Given the description of an element on the screen output the (x, y) to click on. 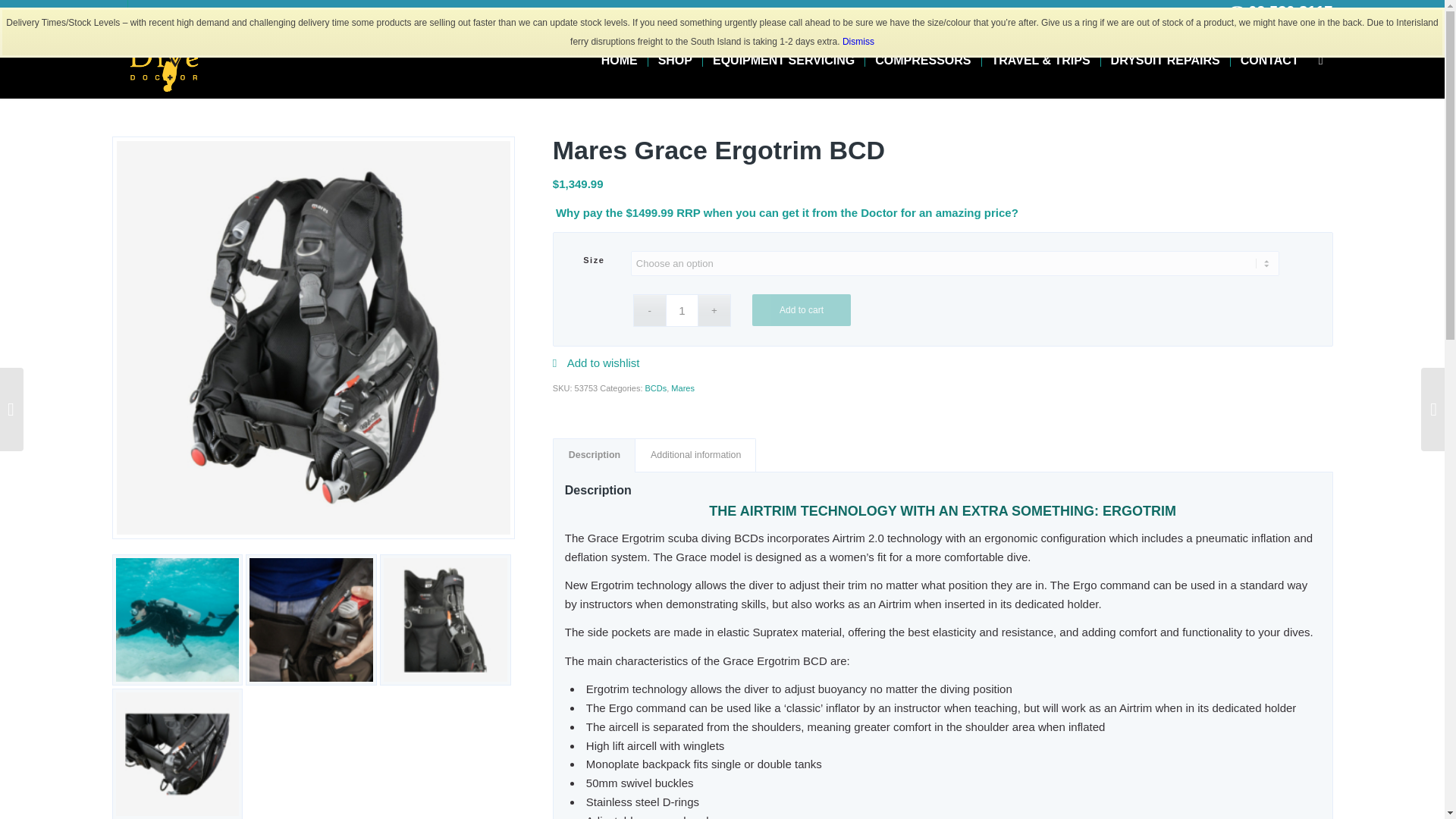
Instagram (138, 11)
Facebook (115, 11)
Additional information (694, 455)
- (649, 310)
Dive Doc Logo (166, 60)
Description (593, 455)
1 (681, 310)
